Given the description of an element on the screen output the (x, y) to click on. 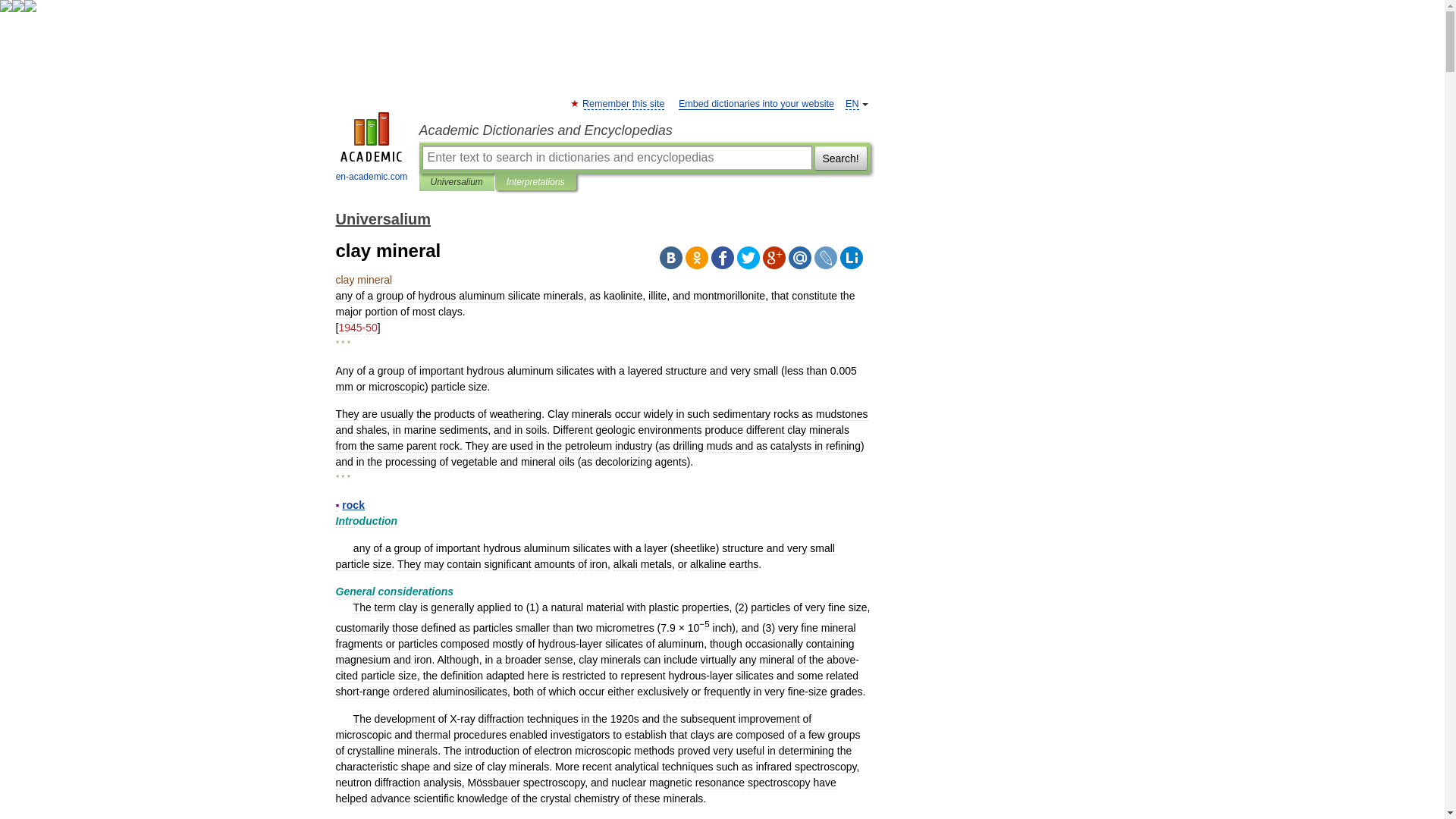
Interpretations (535, 181)
EN (852, 103)
Academic Dictionaries and Encyclopedias (644, 130)
rock (353, 504)
Remember this site (623, 103)
Universalium (382, 218)
en-academic.com (371, 148)
Universalium (456, 181)
Embed dictionaries into your website (756, 103)
Search! (840, 157)
